Given the description of an element on the screen output the (x, y) to click on. 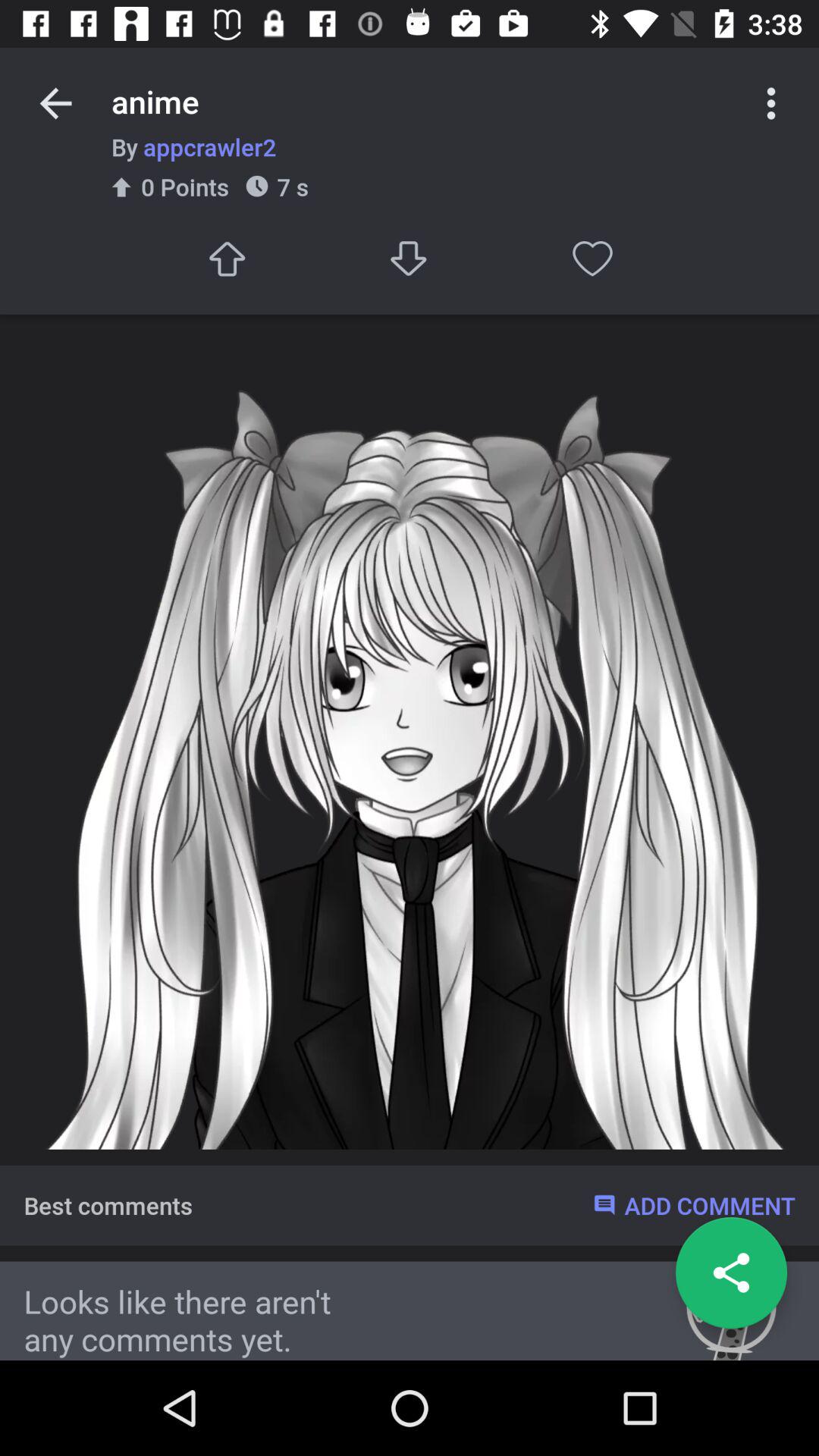
like (592, 258)
